Given the description of an element on the screen output the (x, y) to click on. 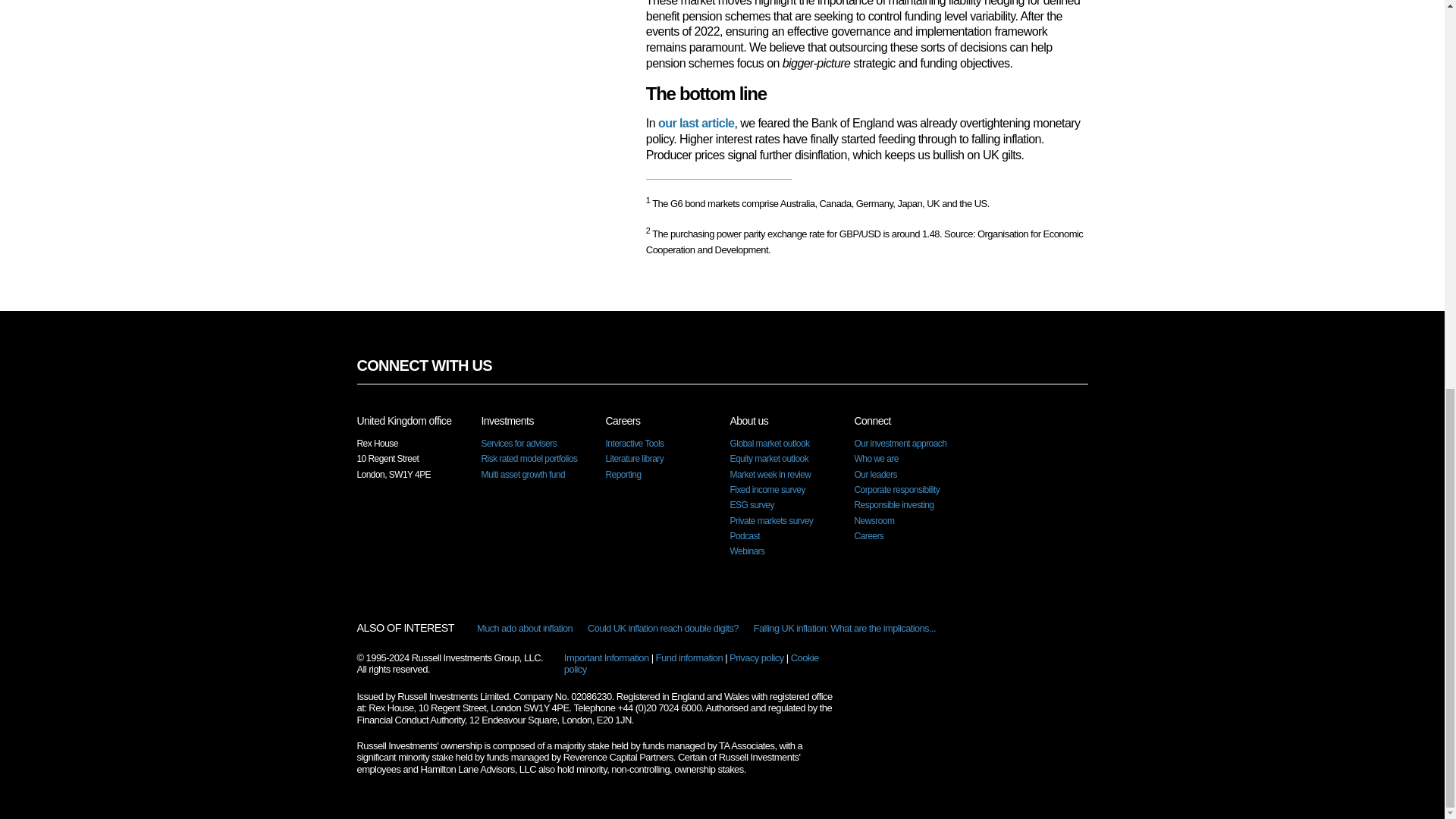
Equity market outlook (768, 458)
Private markets survey (770, 520)
Multi asset growth fund (522, 474)
ESG survey (751, 504)
Literature library (634, 458)
Webinars (746, 551)
Careers (868, 535)
Could UK inflation reach double digits? (663, 627)
Much ado about inflation (524, 627)
Market week in review (769, 474)
Fund information (689, 657)
Services for advisers (518, 443)
Cookie policy (691, 663)
Risk rated model portfolios (528, 458)
our last article (695, 123)
